Given the description of an element on the screen output the (x, y) to click on. 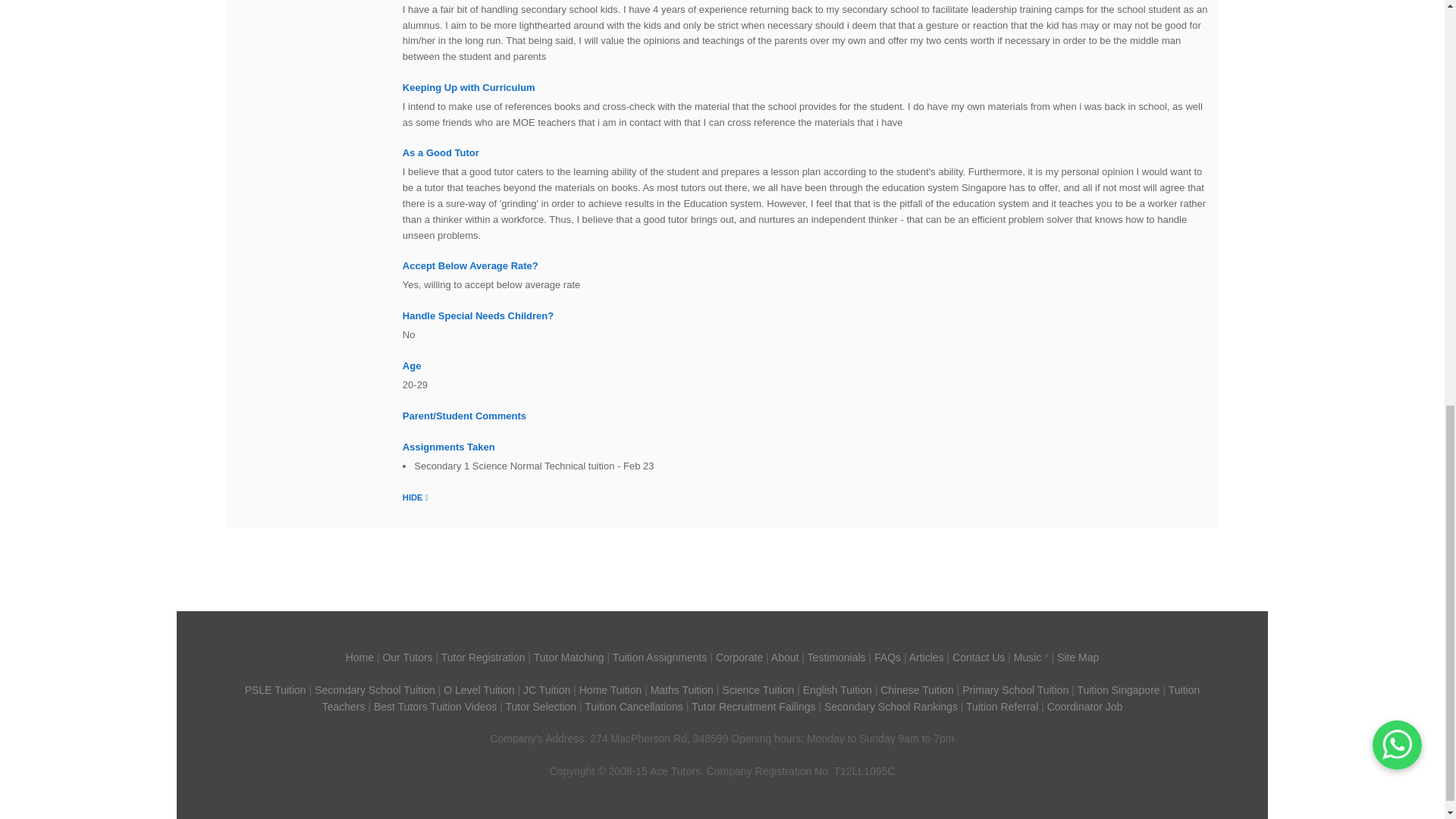
Home (360, 657)
Testimonials (837, 657)
Our Tutors (406, 657)
Corporate (739, 657)
Tutor Matching (569, 657)
HIDE (415, 496)
Tutor Registration (483, 657)
Tuition Assignments (659, 657)
FAQs (888, 657)
About (785, 657)
